Given the description of an element on the screen output the (x, y) to click on. 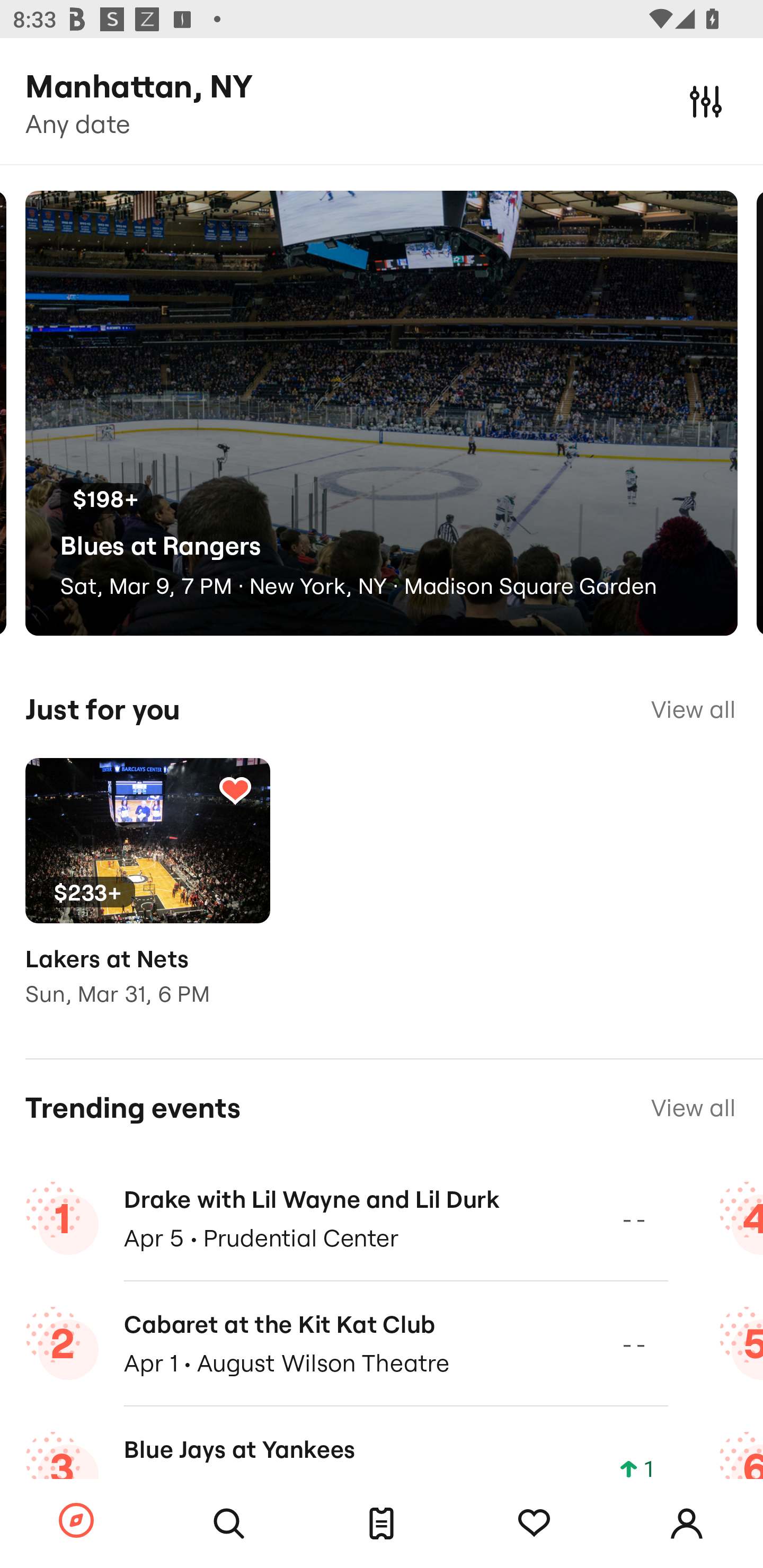
Filters (705, 100)
View all (693, 709)
Tracking $233+ Lakers at Nets Sun, Mar 31, 6 PM (147, 895)
Tracking (234, 790)
View all (693, 1108)
Browse (76, 1521)
Search (228, 1523)
Tickets (381, 1523)
Tracking (533, 1523)
Account (686, 1523)
